Given the description of an element on the screen output the (x, y) to click on. 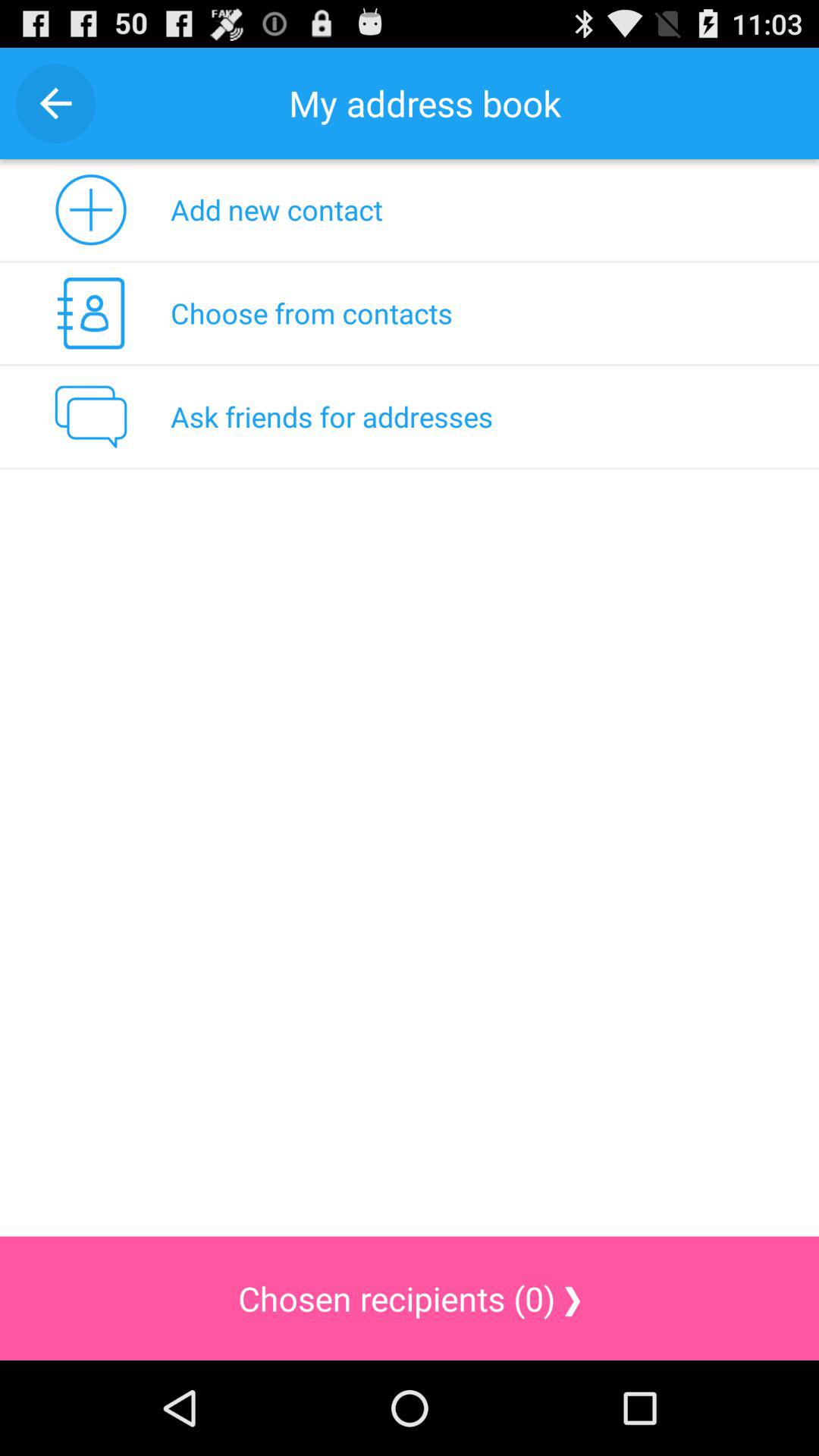
go back (55, 103)
